Given the description of an element on the screen output the (x, y) to click on. 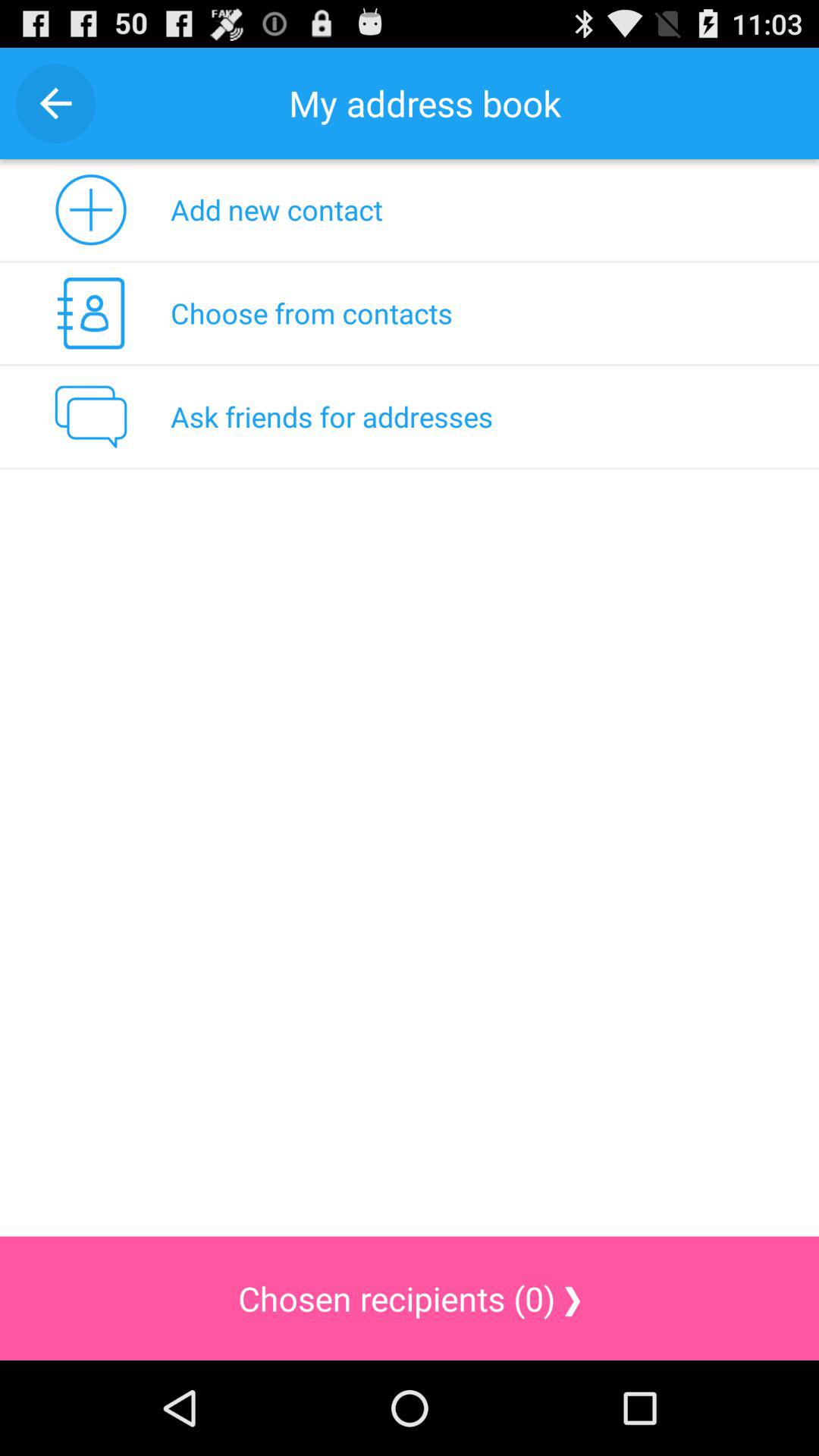
go back (55, 103)
